Given the description of an element on the screen output the (x, y) to click on. 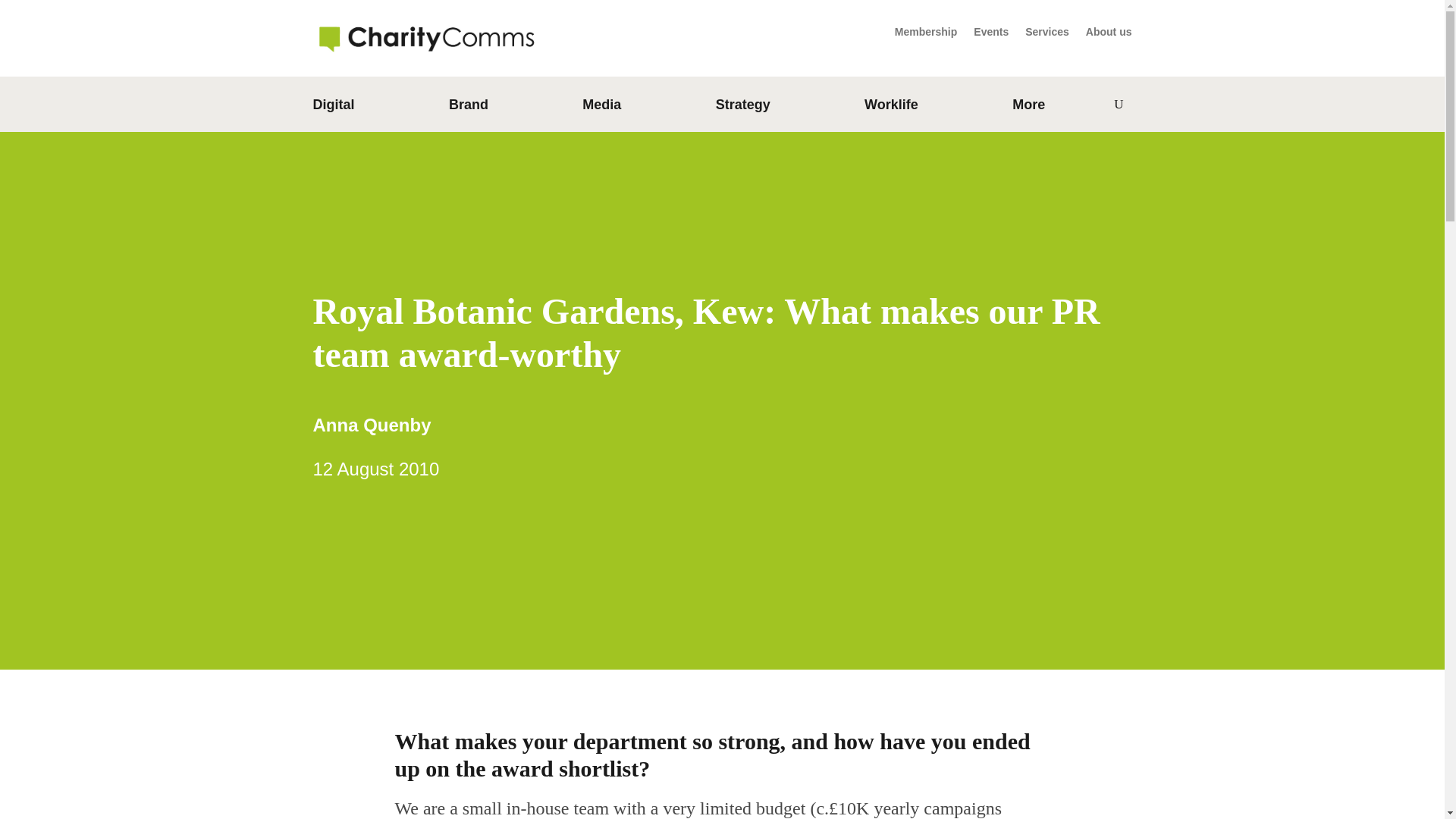
Digital (333, 107)
Media (601, 107)
Worklife (891, 107)
Membership (925, 34)
About us (1109, 34)
Brand (467, 107)
More (1028, 107)
Events (991, 34)
Services (1046, 34)
Search (1087, 104)
Strategy (743, 107)
